Given the description of an element on the screen output the (x, y) to click on. 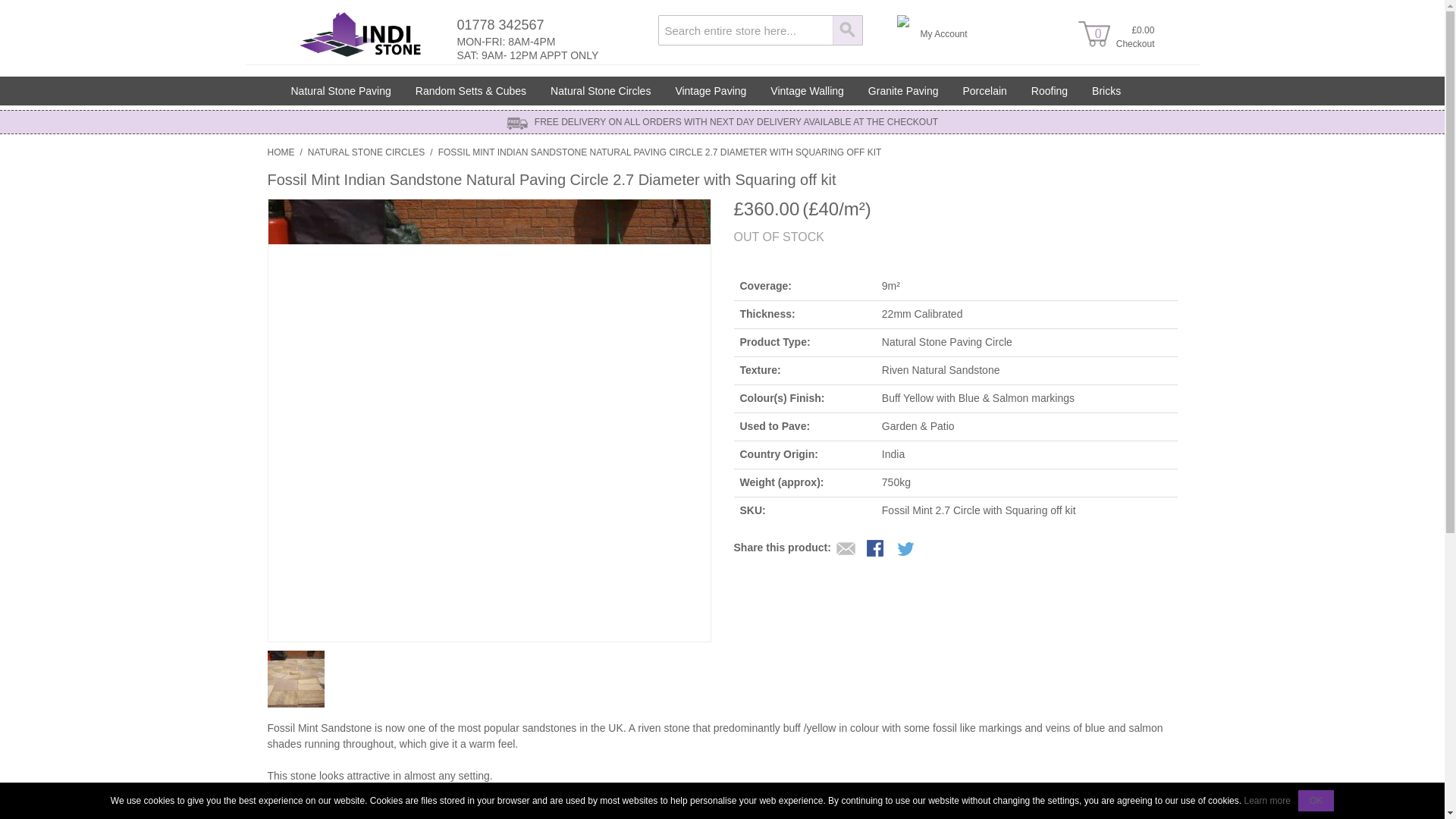
Share on Facebook (876, 549)
Email to a Friend (845, 549)
Roofing (1049, 90)
Email to a Friend (845, 549)
Share on Twitter (906, 549)
View Cart (1093, 31)
NATURAL STONE CIRCLES (366, 151)
Share on Twitter (906, 549)
Share Facebook (876, 549)
Natural Stone Circles (600, 90)
Porcelain (983, 90)
Go to Home Page (280, 151)
Natural Stone Paving (341, 90)
Vintage Walling (807, 90)
